Given the description of an element on the screen output the (x, y) to click on. 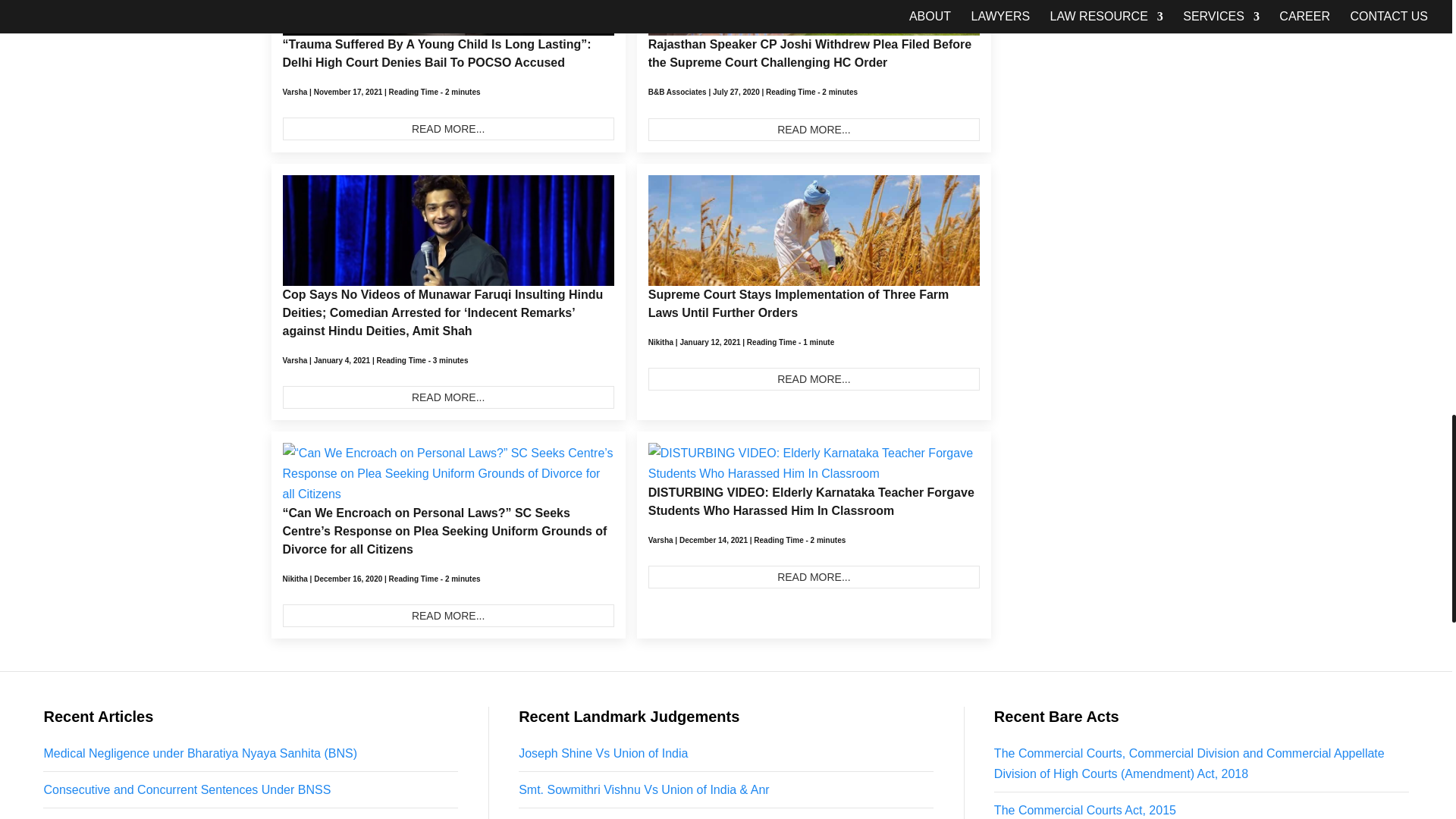
READ MORE... (813, 378)
READ MORE... (447, 396)
READ MORE... (447, 128)
READ MORE... (813, 128)
